Given the description of an element on the screen output the (x, y) to click on. 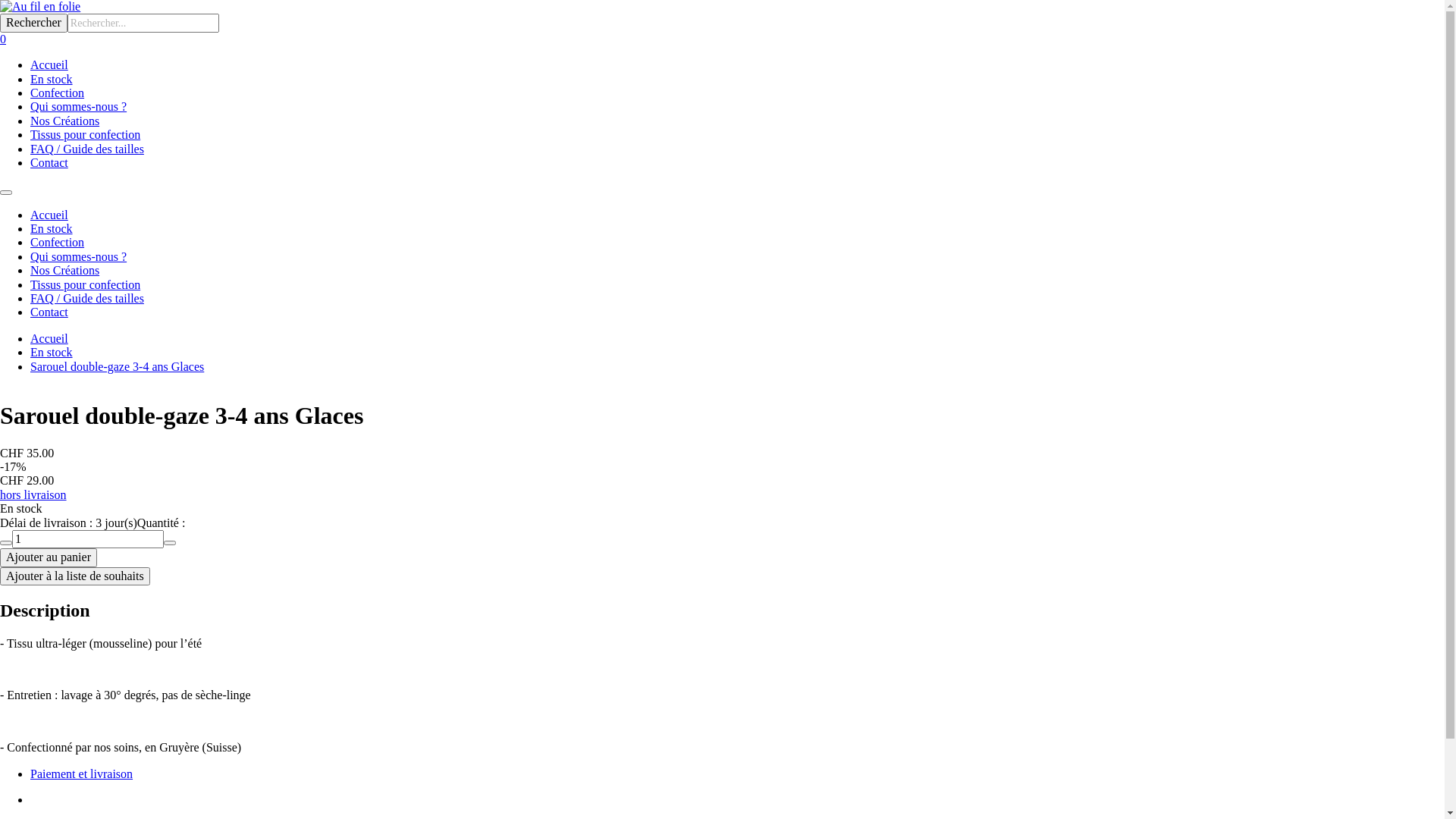
FAQ / Guide des tailles Element type: text (87, 148)
Contact Element type: text (49, 311)
Qui sommes-nous ? Element type: text (78, 106)
Contact Element type: text (49, 162)
Sarouel double-gaze 3-4 ans Glaces Element type: text (116, 366)
Qui sommes-nous ? Element type: text (78, 256)
Confection Element type: text (57, 241)
hors livraison Element type: text (33, 494)
Confection Element type: text (57, 92)
Accueil Element type: text (49, 338)
Tissus pour confection Element type: text (85, 134)
En stock Element type: text (51, 78)
En stock Element type: text (51, 228)
Au fil en folie Element type: hover (722, 6)
Accueil Element type: text (49, 64)
FAQ / Guide des tailles Element type: text (87, 297)
Rechercher Element type: text (33, 22)
Tissus pour confection Element type: text (85, 284)
Ajouter au panier Element type: text (48, 557)
Paiement et livraison Element type: text (81, 773)
En stock Element type: text (51, 351)
Accueil Element type: text (49, 214)
